Given the description of an element on the screen output the (x, y) to click on. 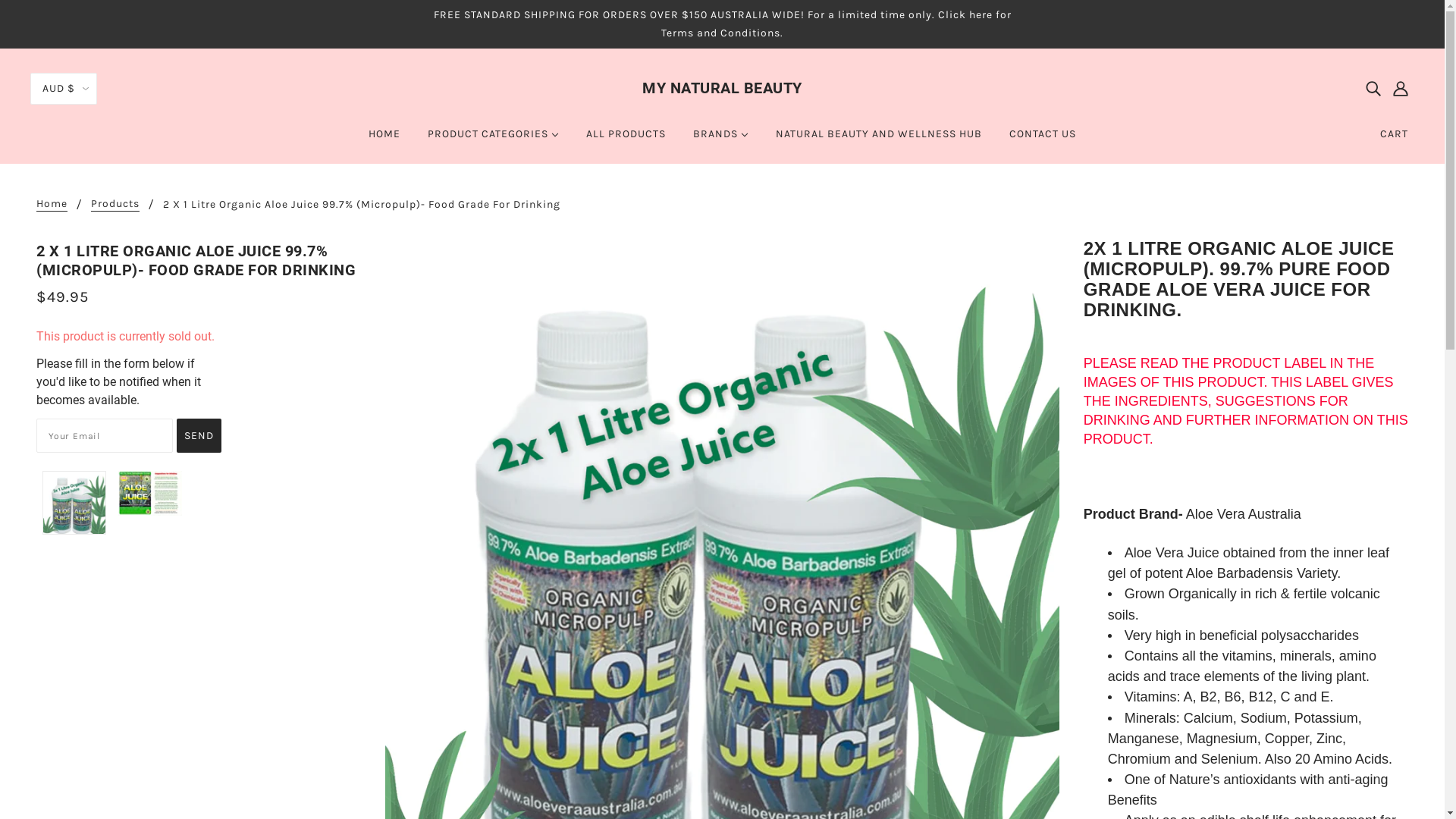
HOME Element type: text (384, 139)
ALL PRODUCTS Element type: text (625, 139)
Home Element type: text (51, 204)
NATURAL BEAUTY AND WELLNESS HUB Element type: text (878, 139)
Products Element type: text (115, 204)
Send Element type: text (198, 435)
CONTACT US Element type: text (1042, 139)
BRANDS Element type: text (720, 139)
PRODUCT CATEGORIES Element type: text (493, 139)
CART Element type: text (1394, 133)
MY NATURAL BEAUTY Element type: text (722, 87)
